Given the description of an element on the screen output the (x, y) to click on. 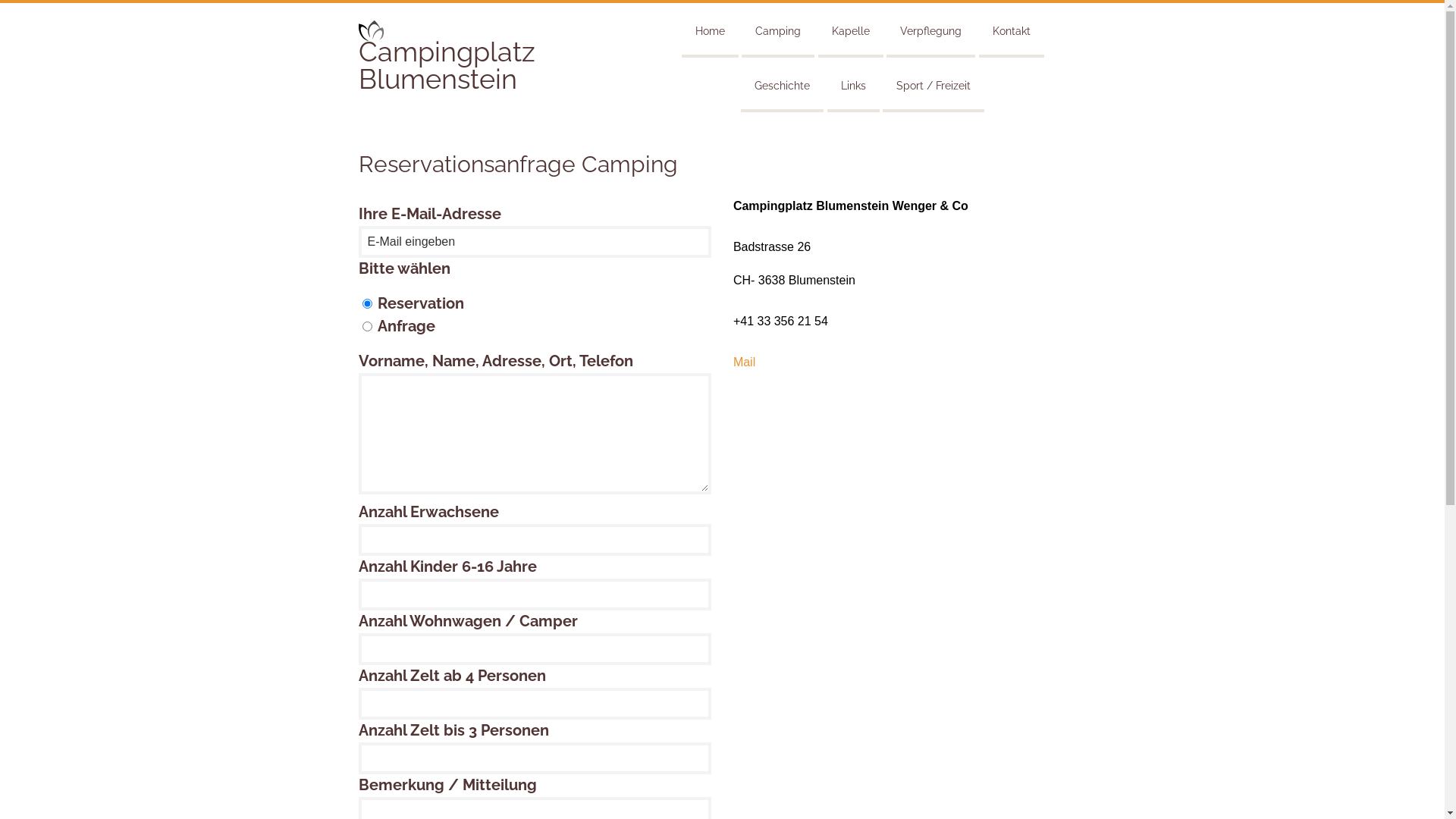
singleline_4 Element type: hover (534, 703)
radiobutton_1_option_1 Element type: hover (367, 326)
Kapelle Element type: text (850, 28)
Verpflegung Element type: text (930, 28)
radiobutton_1_option_0 Element type: hover (367, 303)
singleline_3 Element type: hover (534, 649)
Links Element type: text (853, 83)
Geschichte Element type: text (781, 83)
singleline_1 Element type: hover (534, 539)
Sport / Freizeit Element type: text (933, 83)
Kontakt Element type: text (1011, 28)
Mail Element type: text (744, 361)
Campingplatz Blumenstein Element type: text (445, 64)
Home Element type: text (709, 28)
singleline_2 Element type: hover (534, 594)
Camping Element type: text (777, 28)
singleline_5 Element type: hover (534, 758)
